Given the description of an element on the screen output the (x, y) to click on. 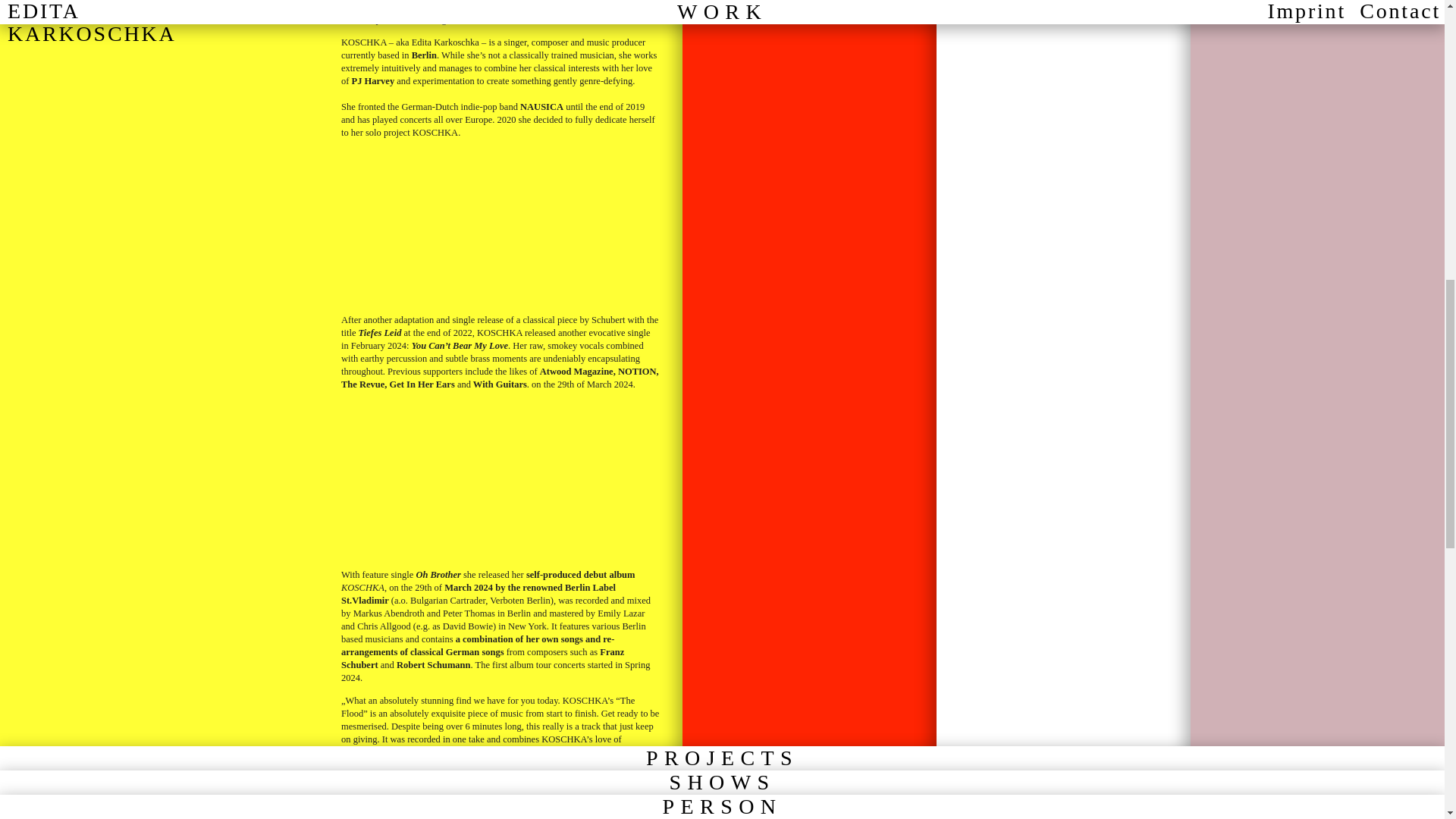
Turn Up The Volume (1211, 426)
The Vinyl District (579, 815)
Loud Women (1051, 297)
Earthly Pleasures (1164, 484)
Atwood Magazine (1110, 245)
YouTube video player (499, 224)
The Daily Indie (1301, 375)
Zap! Bang! Magazine   (1137, 348)
YouTube video player (499, 479)
The Vinyl District (1189, 258)
